Given the description of an element on the screen output the (x, y) to click on. 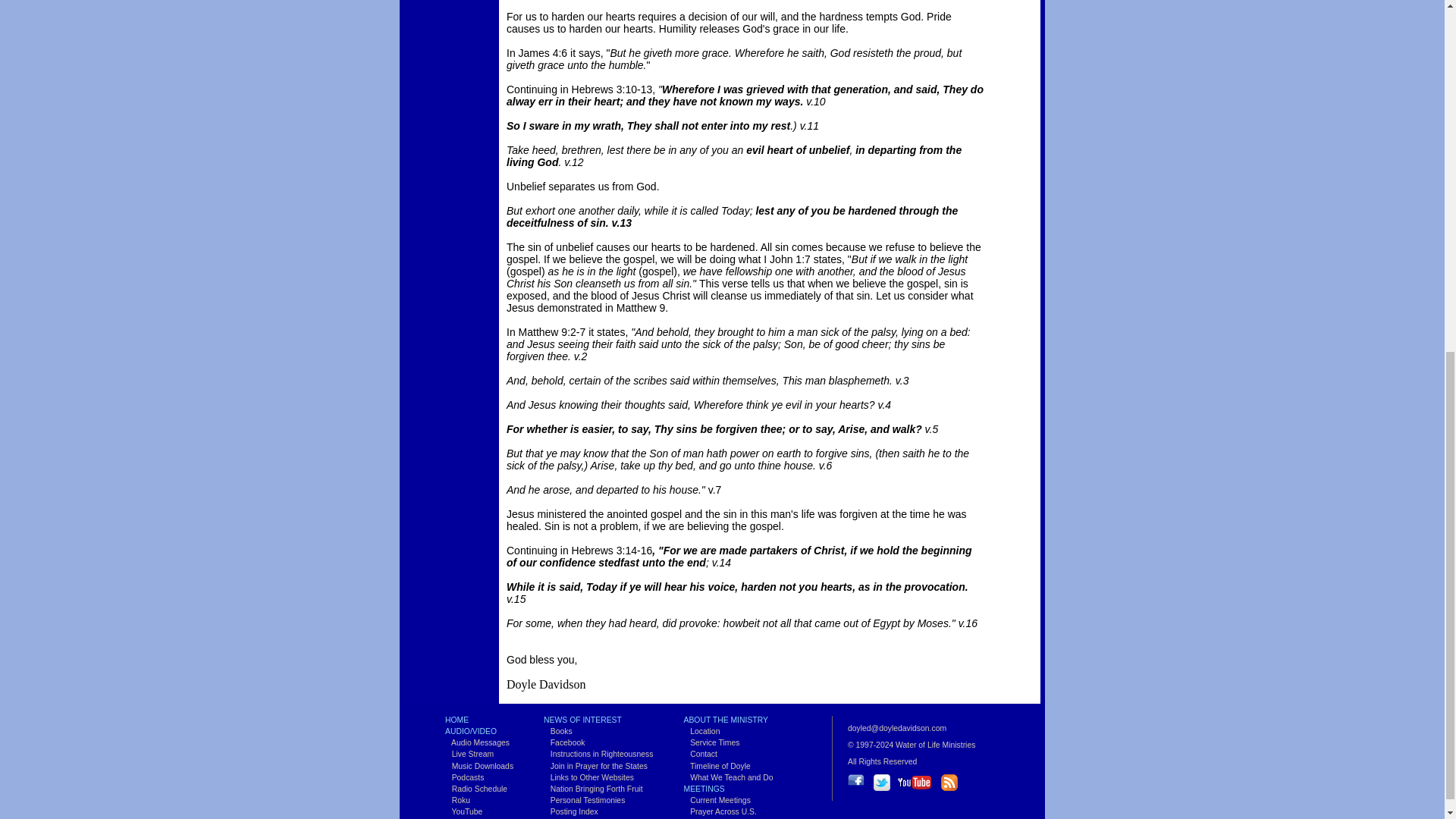
   Personal Testimonies (583, 800)
   Links to Other Websites (588, 777)
   Podcasts (464, 777)
   Service Times (710, 742)
   Current Meetings (715, 800)
   Prayer Across U.S. (718, 811)
   Live Stream (469, 754)
   Location (700, 731)
   Nation Bringing Forth Fruit (593, 788)
   YouTube (463, 811)
MEETINGS (702, 788)
   Radio Schedule (475, 788)
   Books (557, 731)
   Audio Messages (477, 742)
ABOUT THE MINISTRY (724, 719)
